Given the description of an element on the screen output the (x, y) to click on. 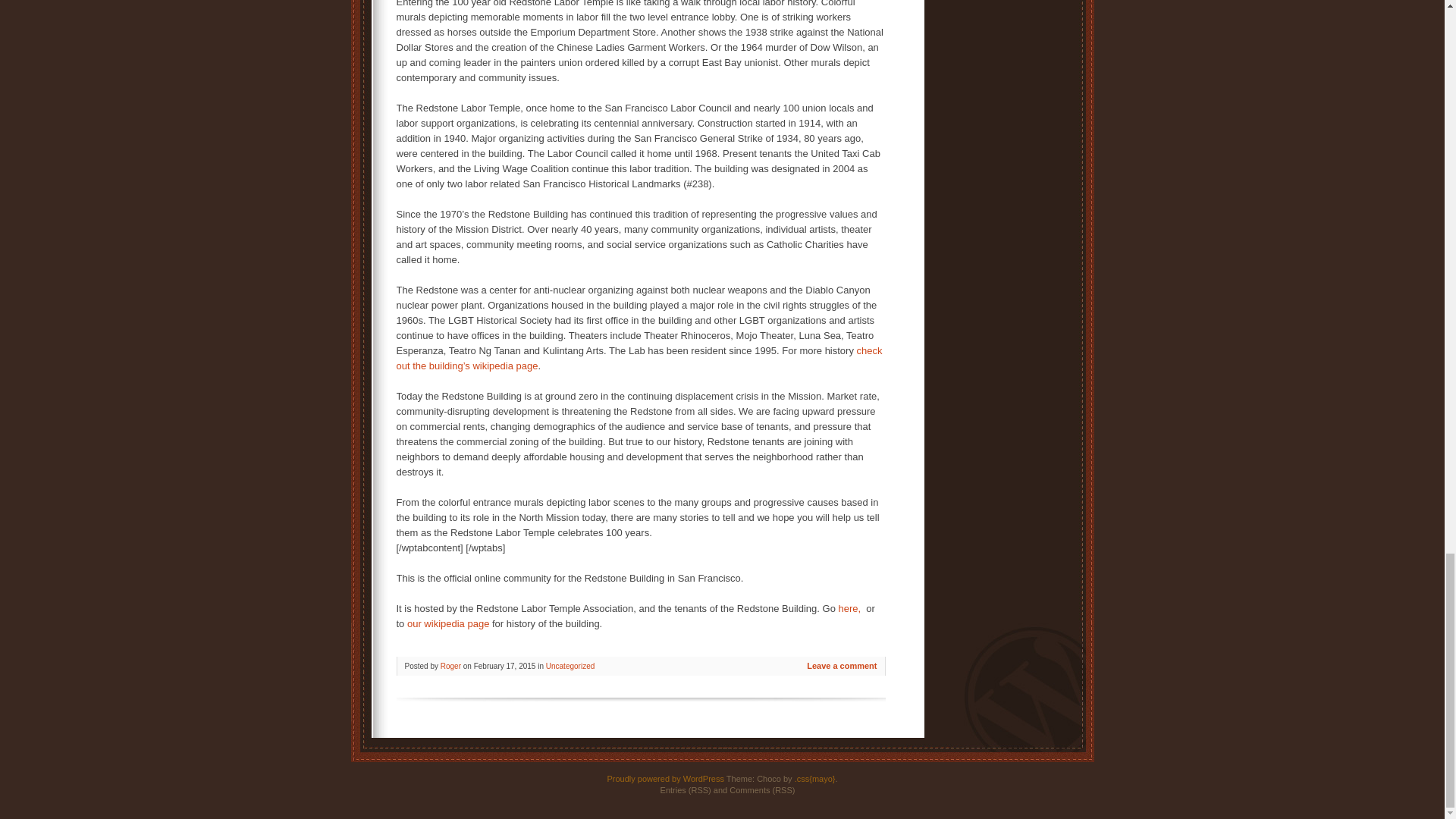
Leave a comment (841, 665)
our wikipedia page (448, 623)
here,  (852, 608)
Uncategorized (570, 665)
Posts by Roger (451, 665)
Roger (451, 665)
